Given the description of an element on the screen output the (x, y) to click on. 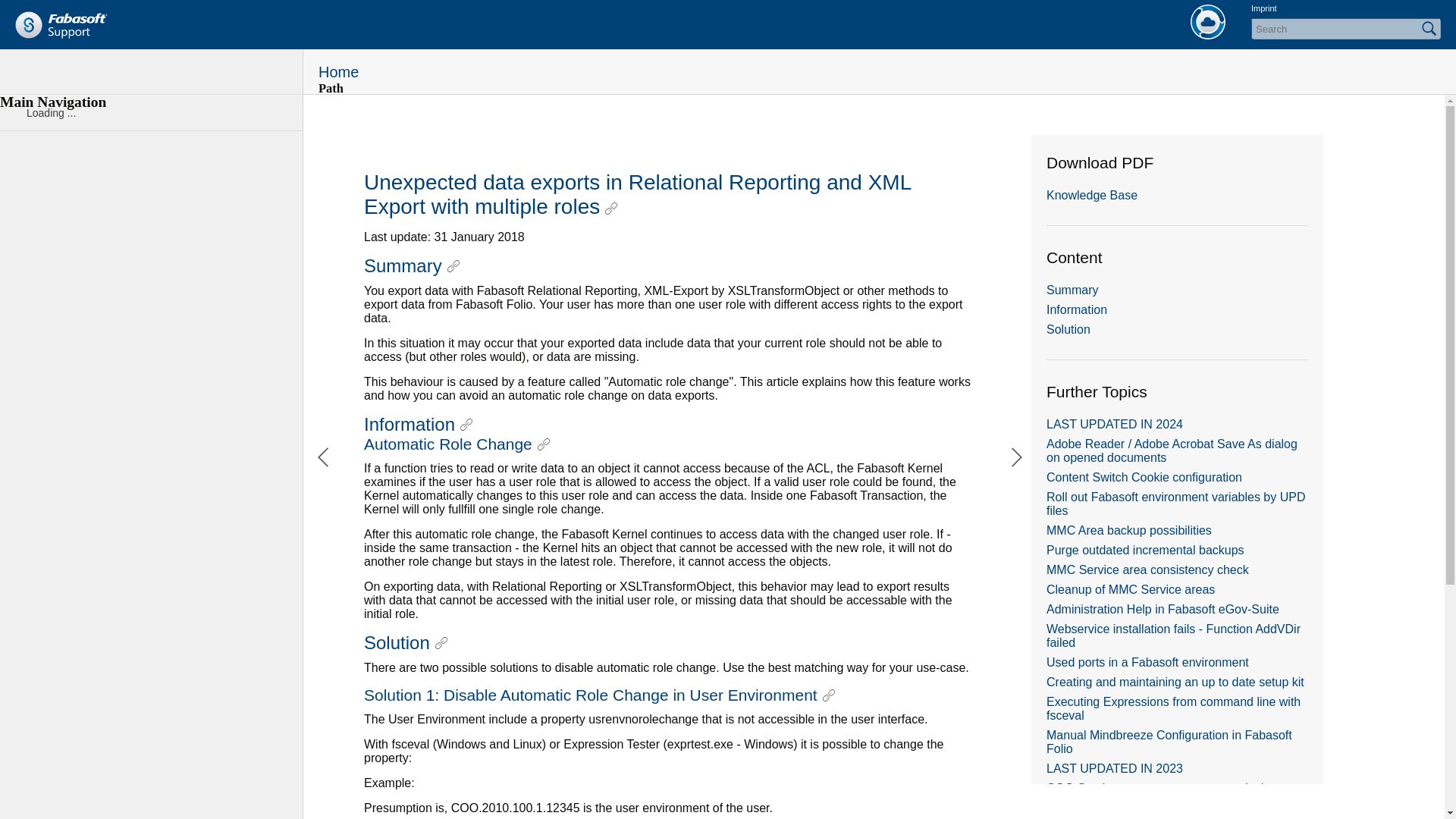
Permanent link for this heading (465, 424)
Summary (1071, 289)
Roll out Fabasoft environment variables by UPD files (1176, 503)
LAST UPDATED IN 2024 (1114, 423)
Imprint (1263, 8)
Solution (1068, 328)
Loading ... (151, 113)
Permanent link for this heading (611, 208)
Permanent link for this heading (828, 695)
Home (1208, 21)
Permanent link for this heading (543, 444)
Permanent link for this heading (453, 265)
Home (60, 23)
Permanent link for this heading (440, 643)
Knowledge Base (1091, 195)
